Given the description of an element on the screen output the (x, y) to click on. 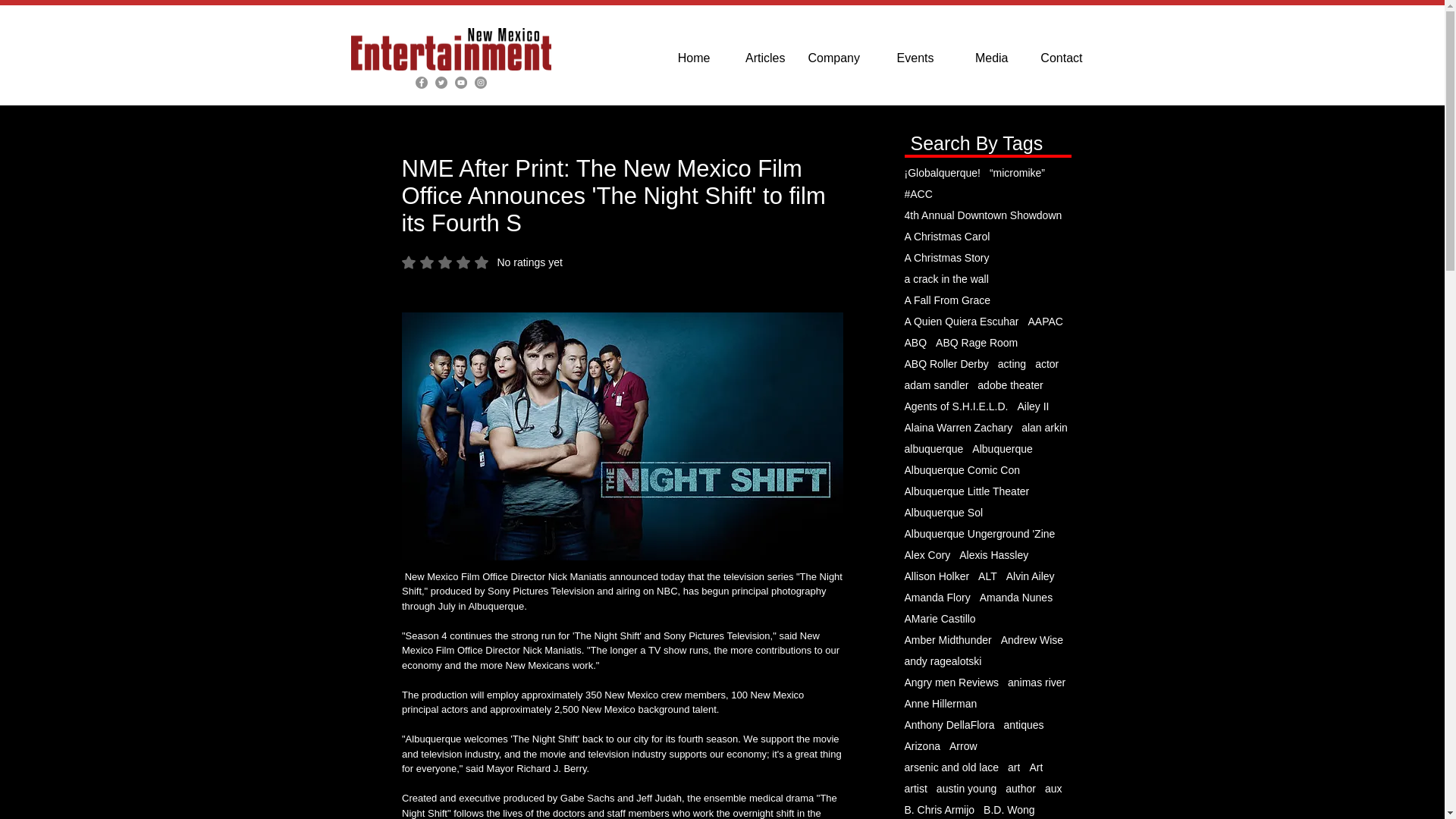
a crack in the wall (946, 278)
Articles (759, 57)
Media (981, 57)
A Fall From Grace (947, 300)
Contact (481, 262)
A Christmas Story (1056, 57)
A Christmas Carol (946, 257)
Events (947, 236)
Home (907, 57)
